Given the description of an element on the screen output the (x, y) to click on. 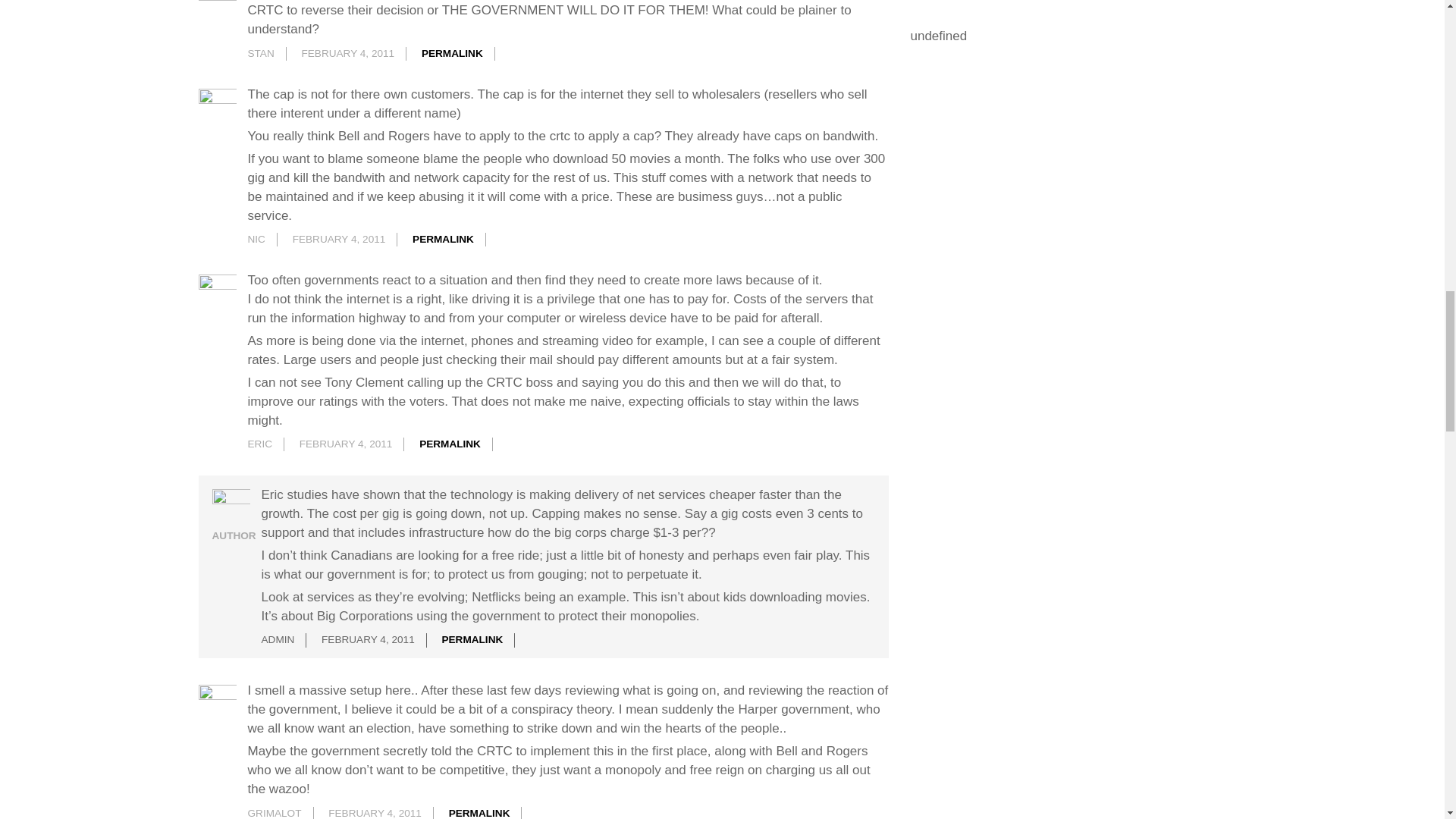
Friday, February 4, 2011, 7:11 am (338, 238)
Friday, February 4, 2011, 8:11 am (375, 813)
Friday, February 4, 2011, 6:56 am (347, 52)
Friday, February 4, 2011, 8:09 am (367, 639)
Friday, February 4, 2011, 7:19 am (346, 443)
